Given the description of an element on the screen output the (x, y) to click on. 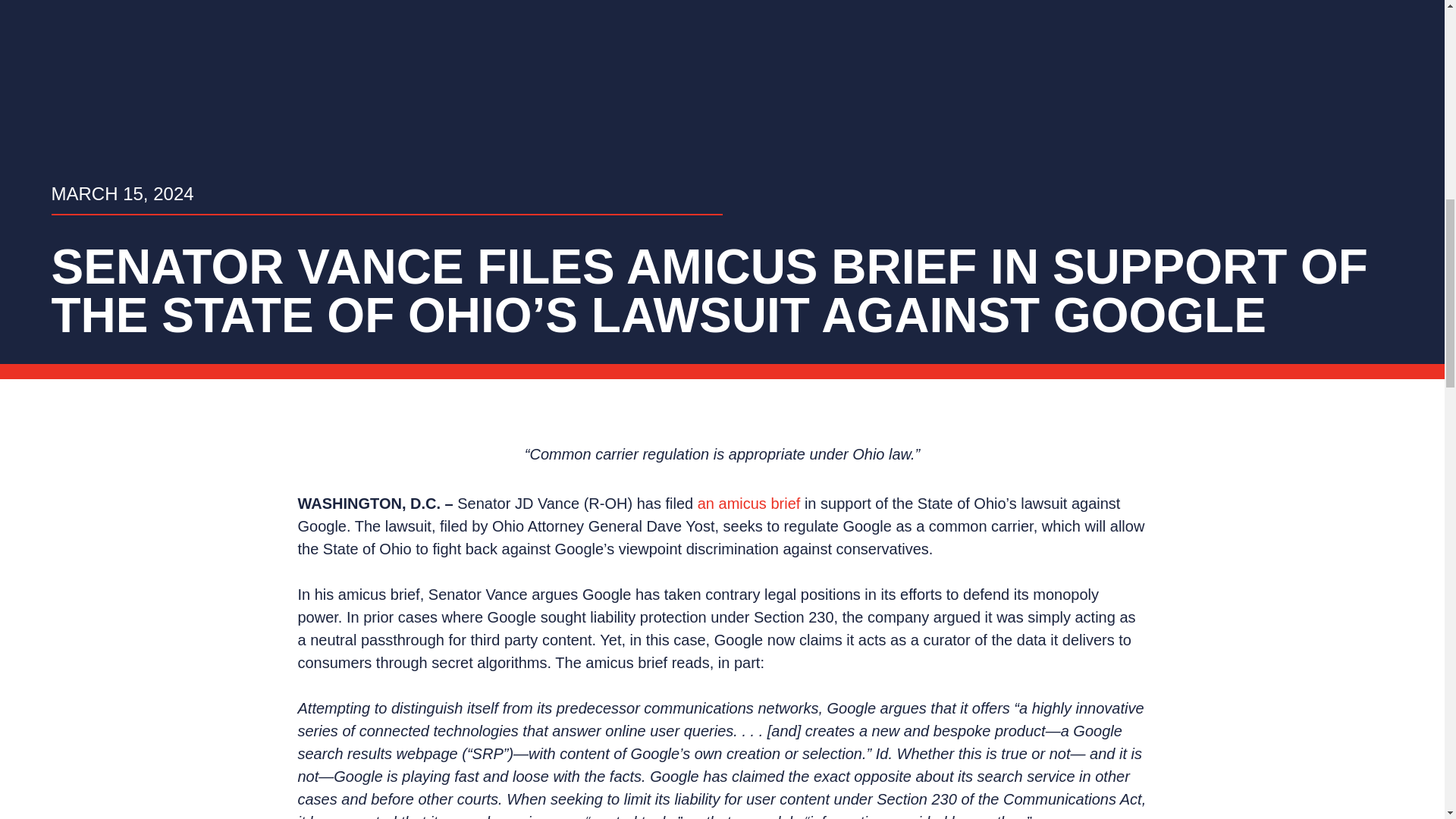
MARCH 15, 2024 (121, 194)
an amicus brief (748, 503)
